Given the description of an element on the screen output the (x, y) to click on. 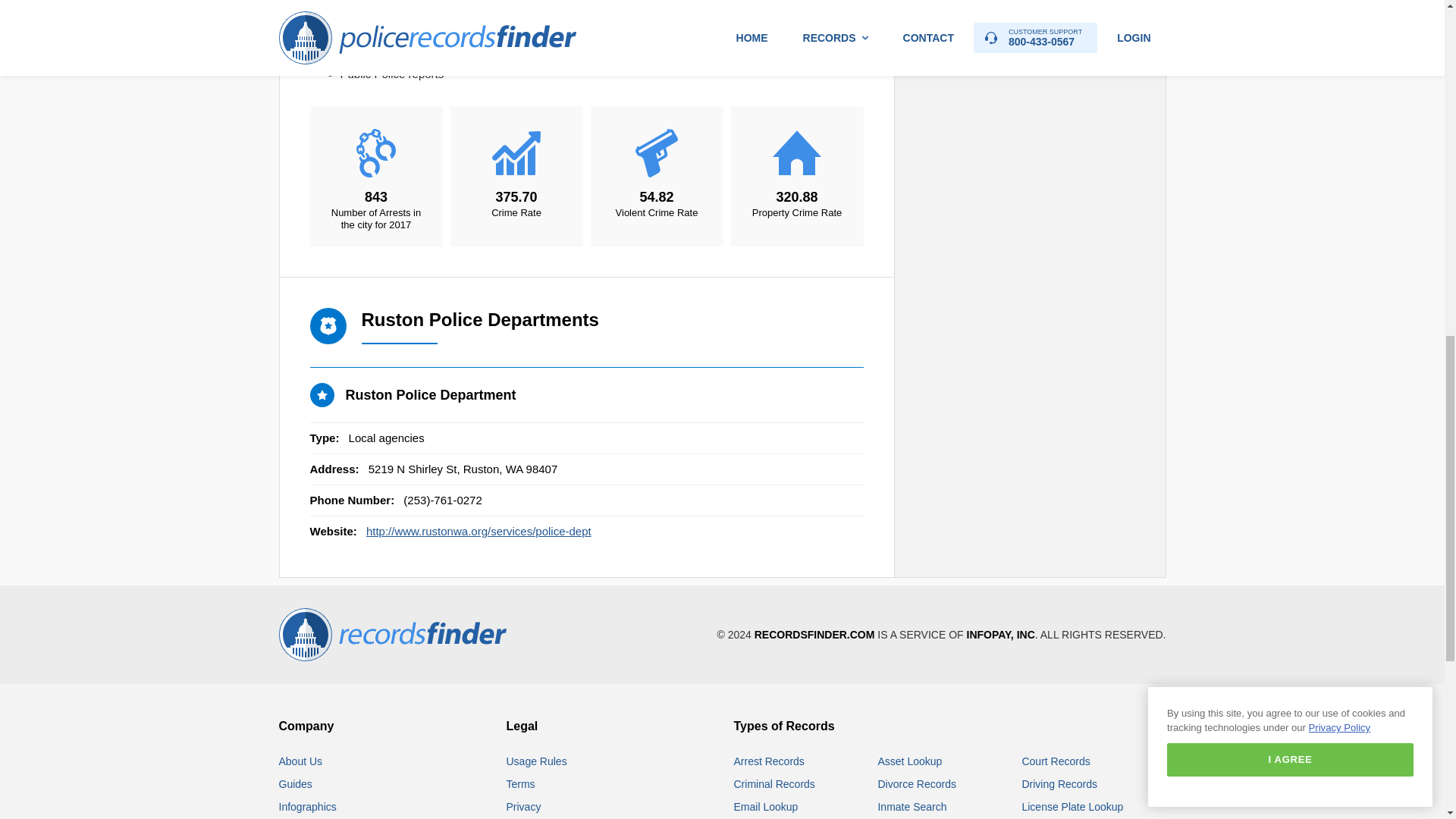
Guides and How tos (296, 784)
RecordsFinder.com Privacy Policy (523, 806)
About RecordsFinder.com (301, 761)
View Public Records Infographics and Statistics (307, 806)
RecordsFinder.com Usage Rules (536, 761)
RecordsFinder.com Terms and Conditions (520, 784)
